Given the description of an element on the screen output the (x, y) to click on. 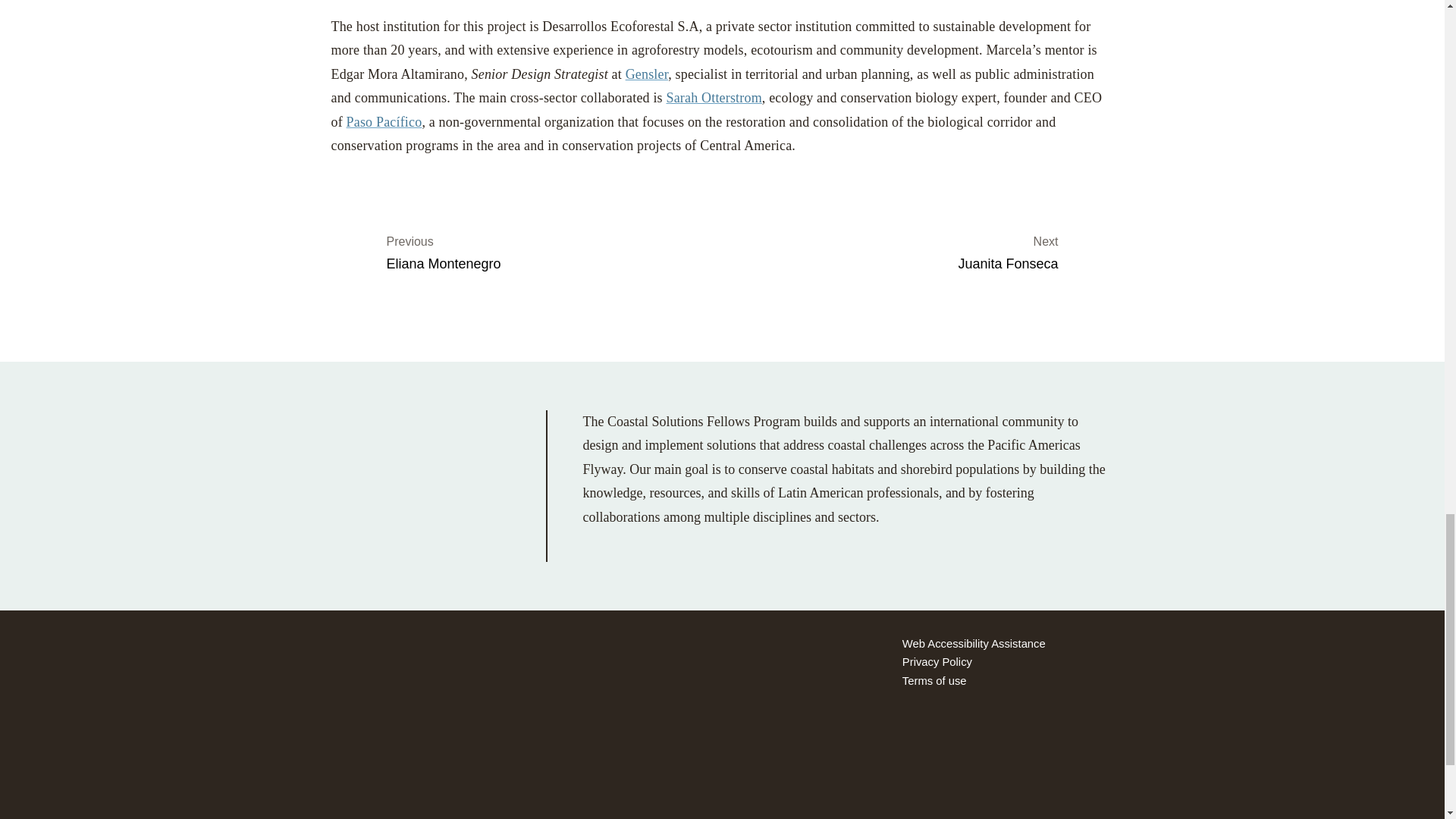
Gensler (647, 73)
